Given the description of an element on the screen output the (x, y) to click on. 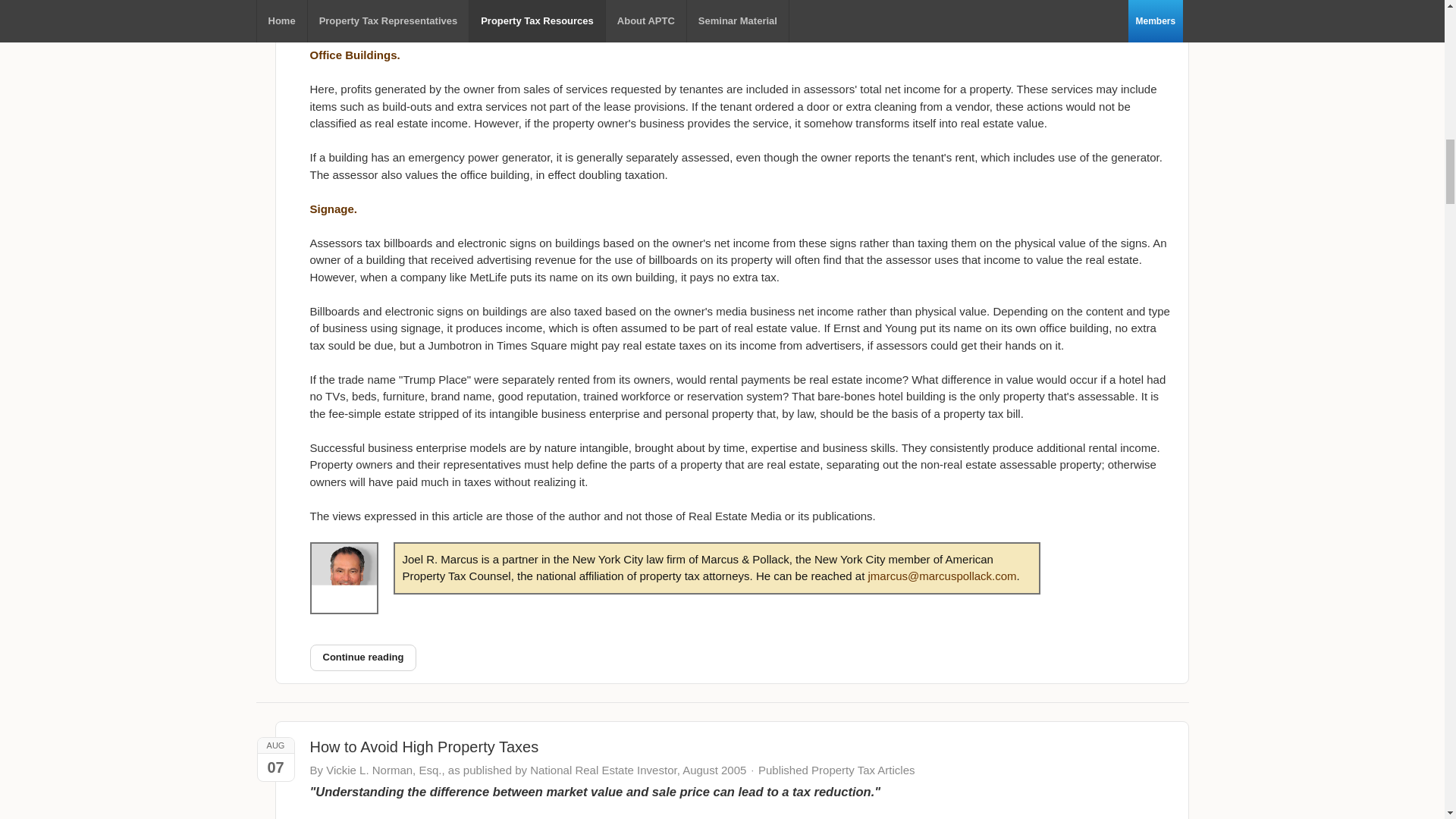
Continue reading (362, 657)
How to Avoid High Property Taxes (423, 746)
Published Property Tax Articles (836, 770)
